Given the description of an element on the screen output the (x, y) to click on. 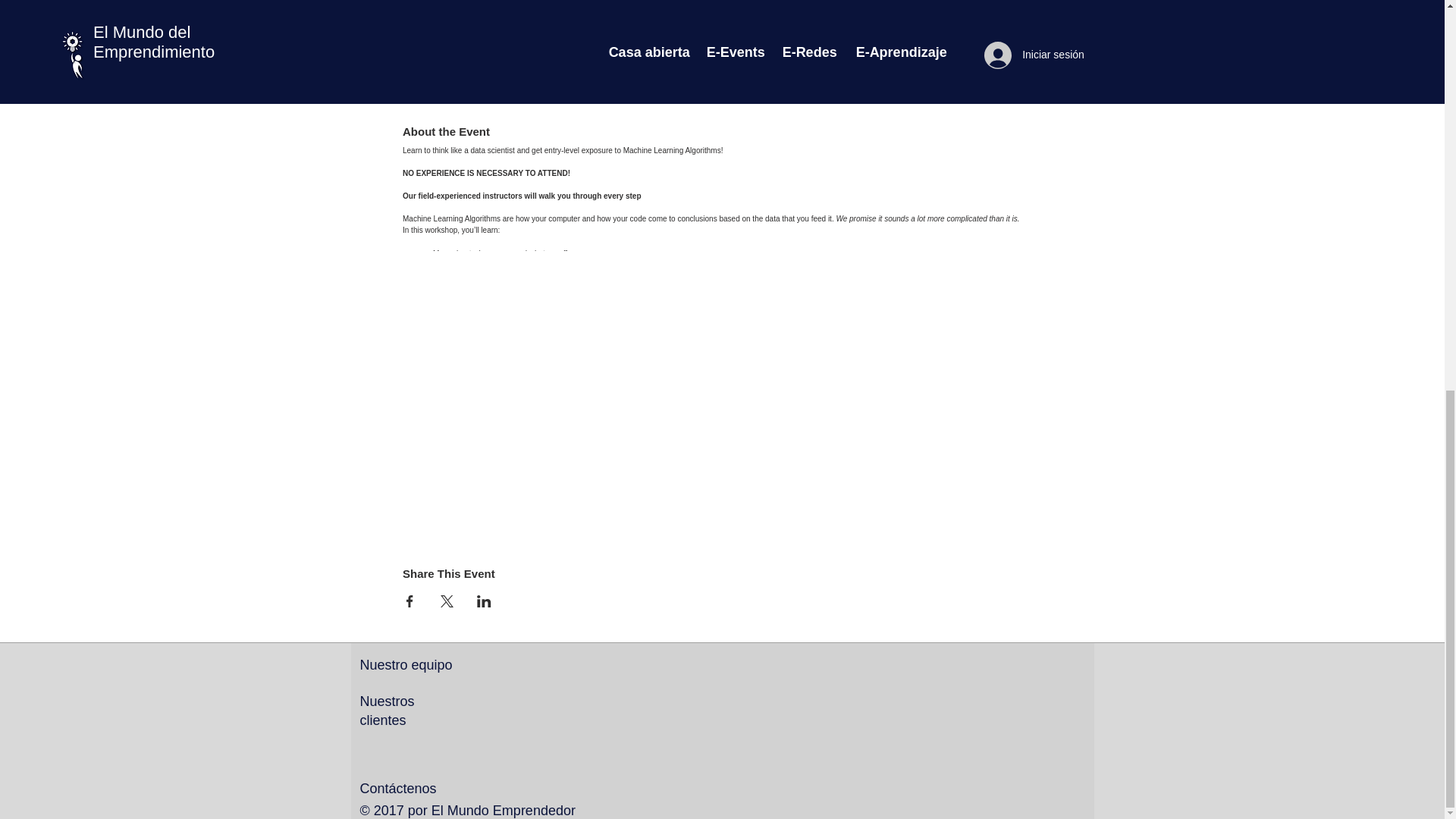
Nuestros clientes (386, 710)
Nuestro equipo (405, 664)
